Given the description of an element on the screen output the (x, y) to click on. 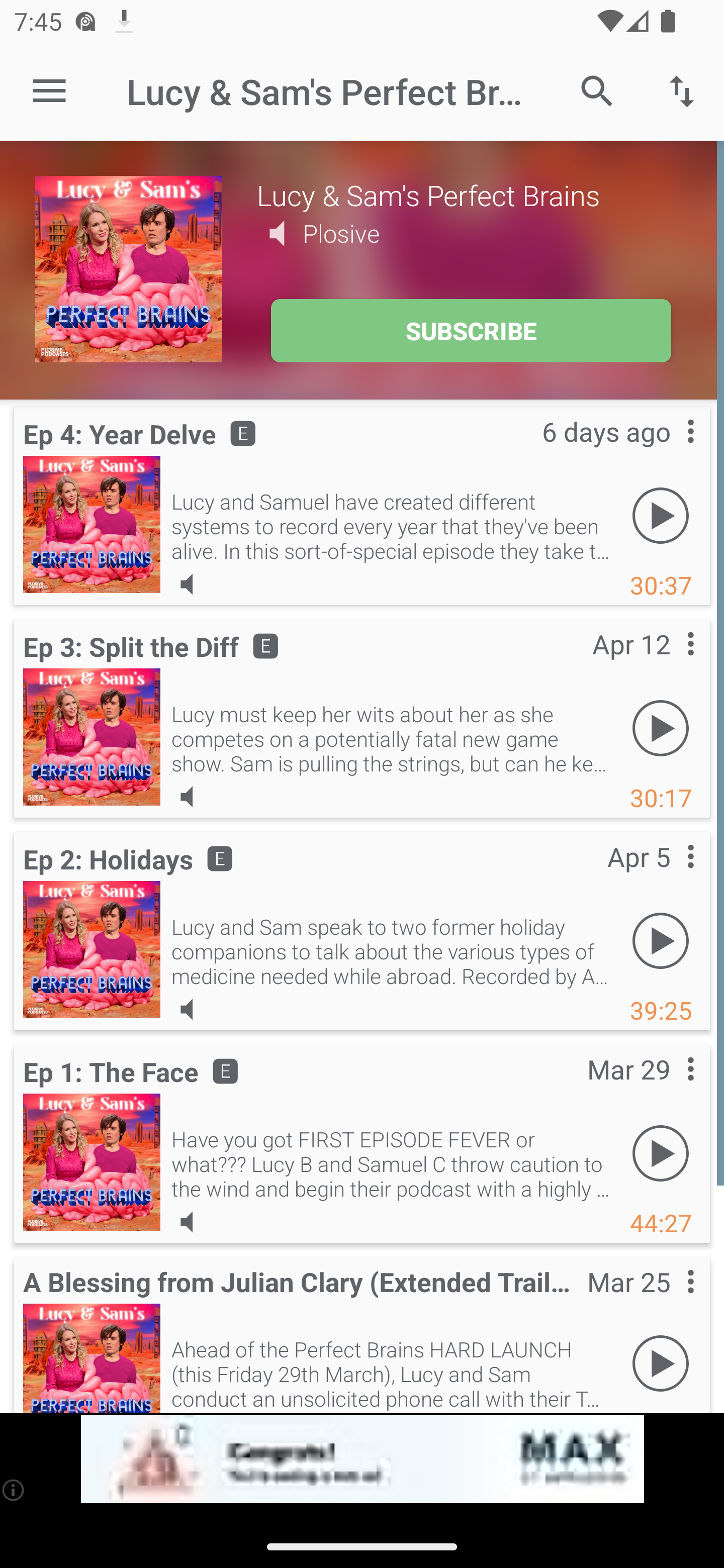
Open navigation sidebar (49, 91)
Search (597, 90)
Sort (681, 90)
SUBSCRIBE (470, 330)
Contextual menu (668, 451)
Play (660, 514)
Contextual menu (668, 663)
Play (660, 727)
Contextual menu (668, 876)
Play (660, 940)
Contextual menu (668, 1088)
Play (660, 1152)
Contextual menu (668, 1301)
Play (660, 1362)
app-monetization (362, 1459)
(i) (14, 1489)
